Given the description of an element on the screen output the (x, y) to click on. 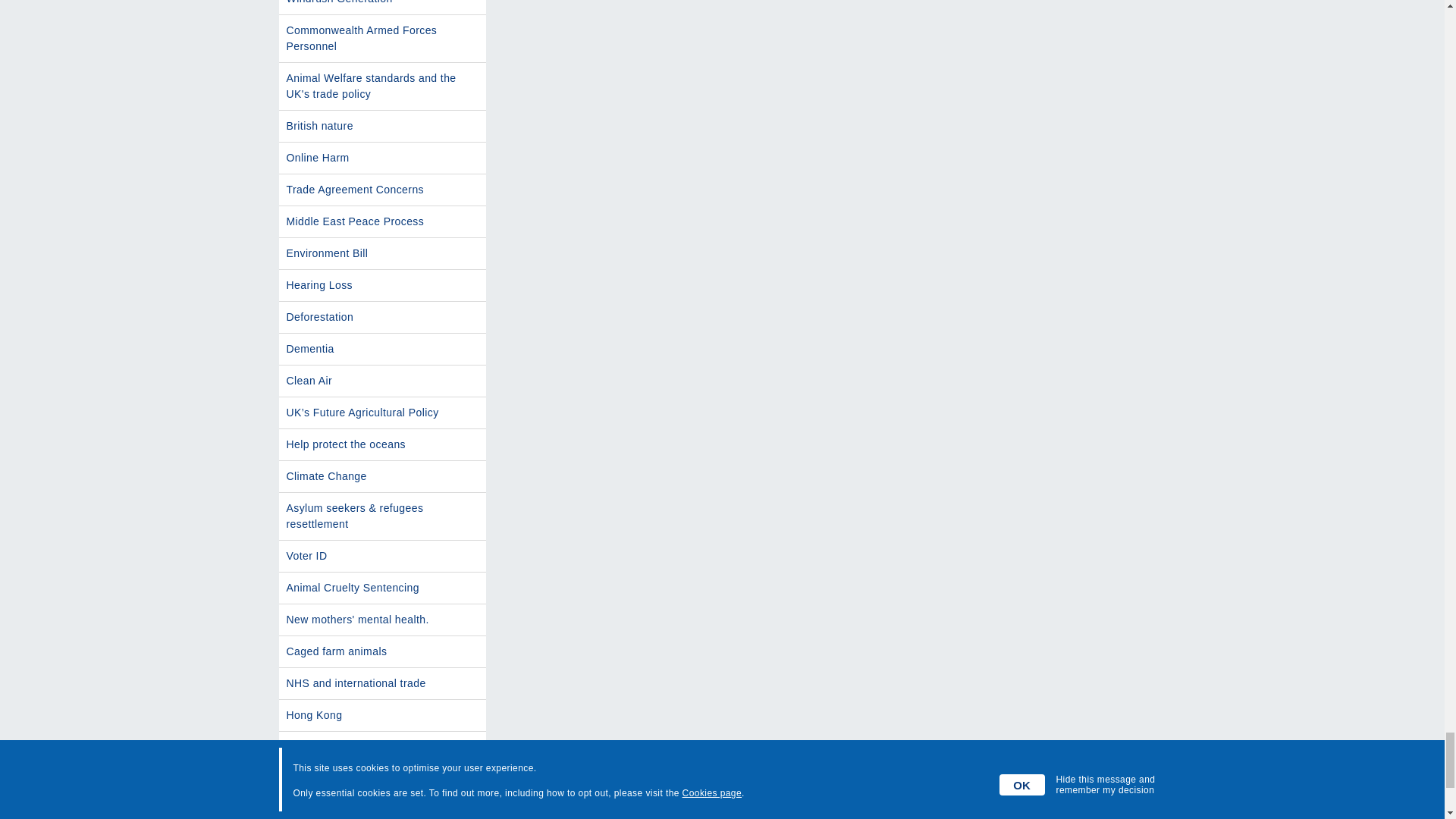
Online Harm (382, 157)
